Given the description of an element on the screen output the (x, y) to click on. 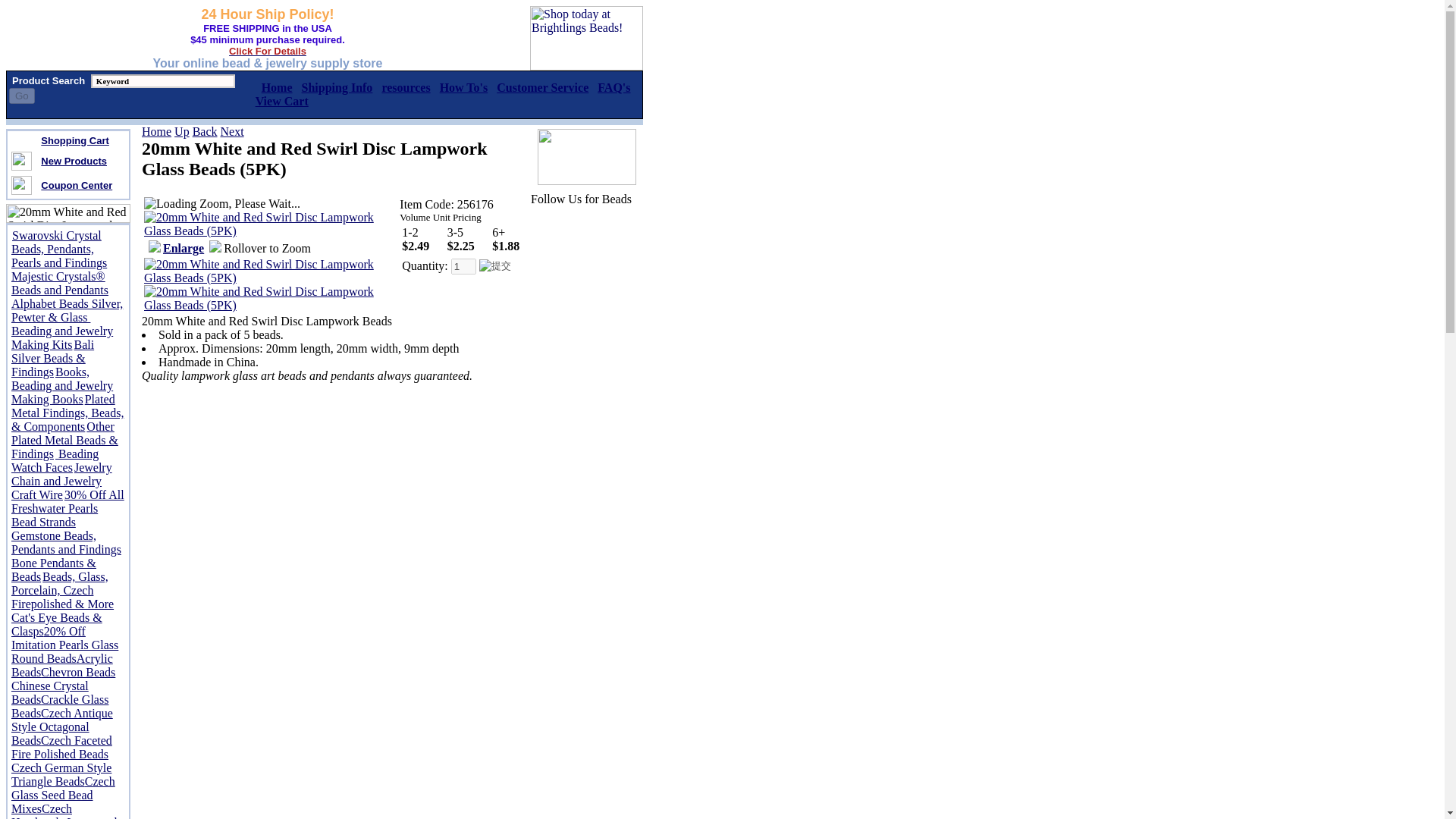
Gemstone Beads, Pendants and Findings (65, 542)
Czech German Style Triangle Beads (61, 774)
Beading Watch Faces (55, 460)
Roll Off Image to Close Zoom Window (270, 277)
Chevron Beads (77, 671)
Books, Beading and Jewelry Making Books (62, 385)
Go (21, 95)
 Keyword  (162, 80)
Customer Service (542, 87)
Jewelry Chain and Jewelry Craft Wire (61, 481)
Swarovski Crystal Beads, Pendants, Pearls and Findings (58, 249)
Czech Handmade Lampwork Glass Beads (65, 810)
Chinese Crystal Beads (49, 692)
Czech Glass Seed Bead Mixes (63, 794)
Coupon Center (76, 184)
